Given the description of an element on the screen output the (x, y) to click on. 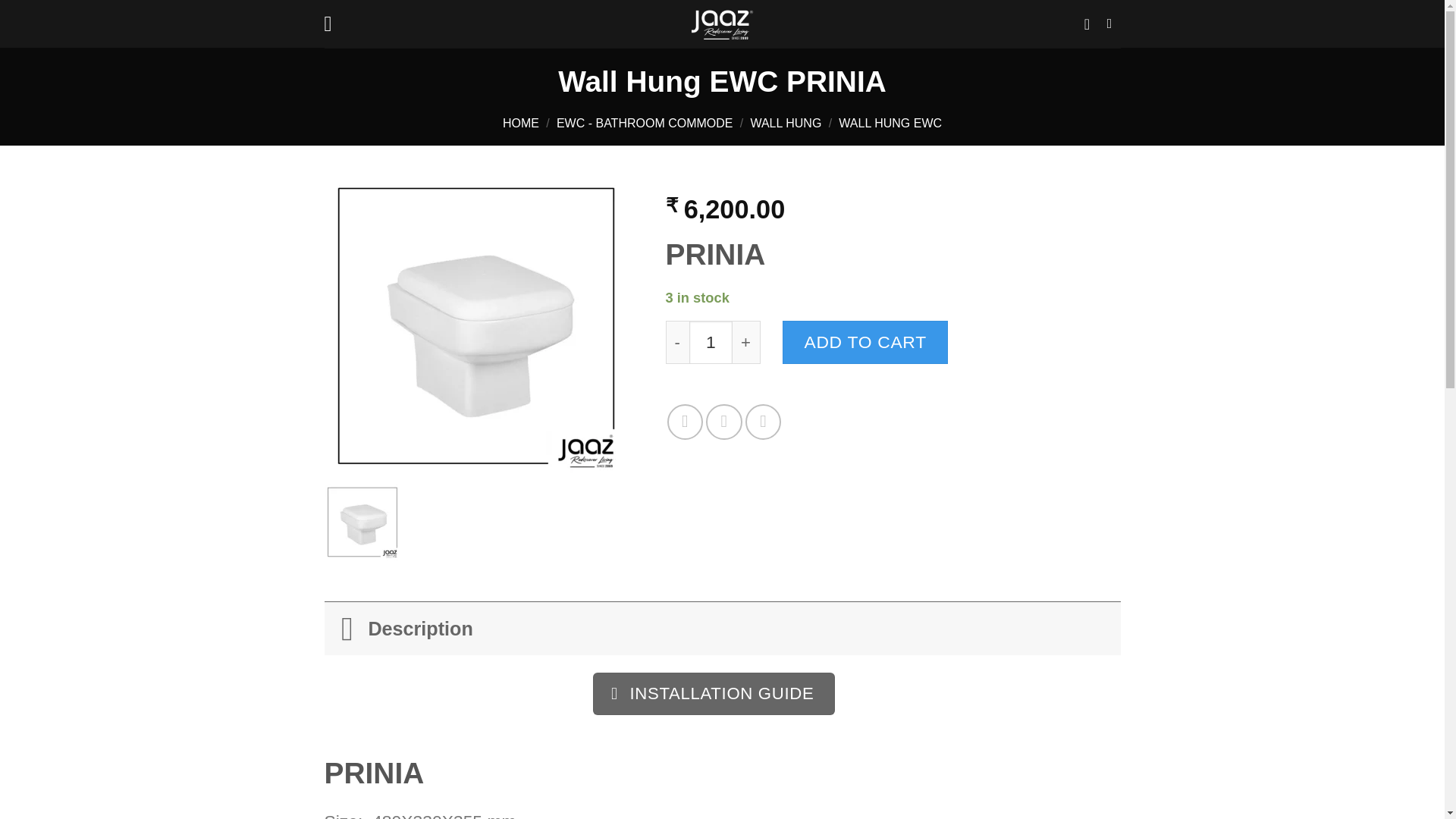
WALL HUNG EWC (890, 123)
- (676, 342)
INSTALLATION GUIDE (713, 693)
WALL HUNG (785, 123)
Cart (1091, 23)
Description (722, 628)
Share on Facebook (684, 421)
EWC - BATHROOM COMMODE (644, 123)
ADD TO CART (865, 342)
1 (710, 342)
Share on Twitter (723, 421)
Email to a Friend (762, 421)
HOME (520, 123)
